Given the description of an element on the screen output the (x, y) to click on. 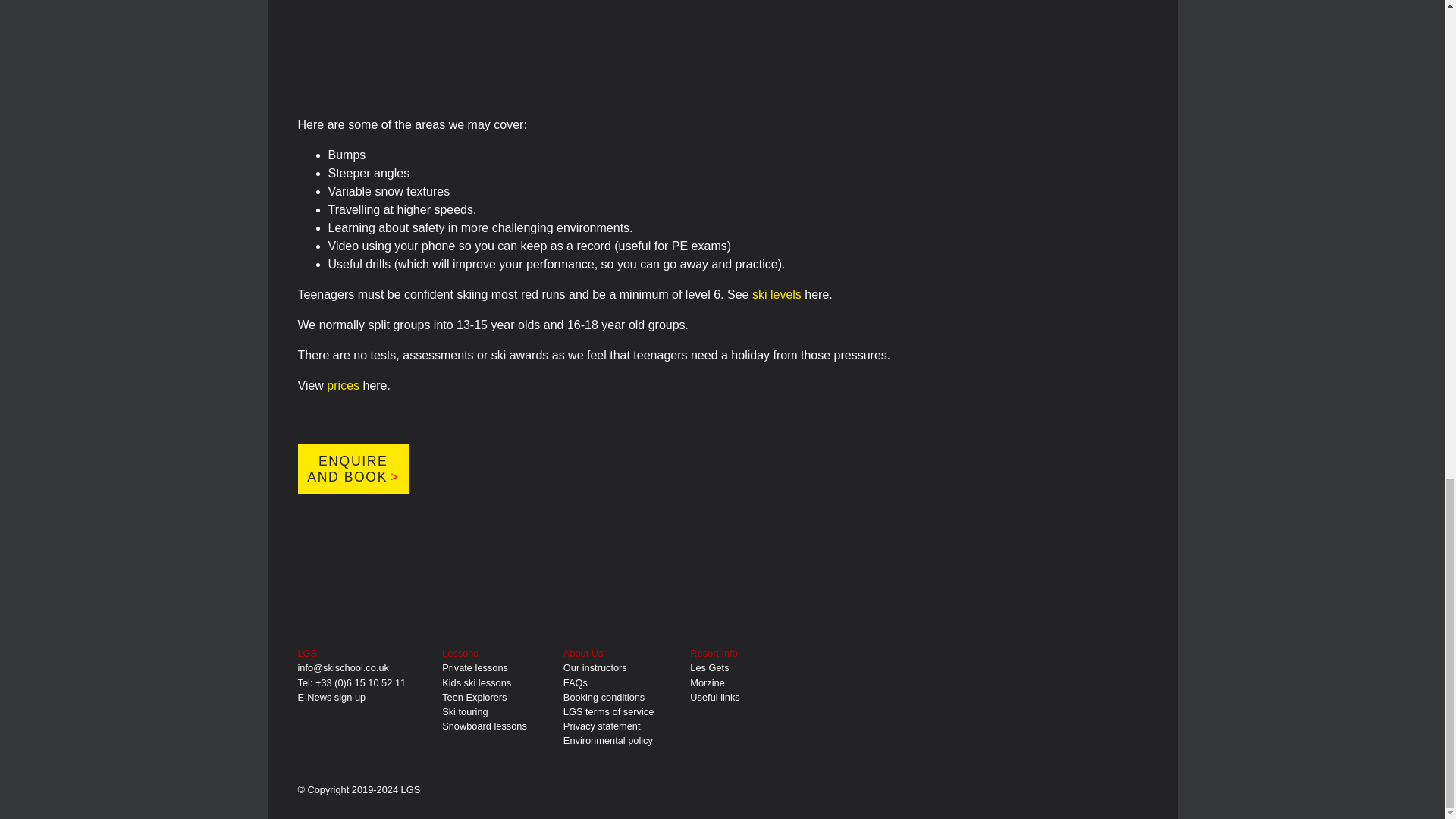
E-News sign up (331, 696)
Environmental policy (607, 740)
Private lessons (475, 667)
Snowboard lessons (484, 726)
Ski touring (464, 711)
prices (342, 385)
Privacy statement (601, 726)
LGS terms of service (608, 711)
Our instructors (595, 667)
Teen Explorers (474, 696)
